Given the description of an element on the screen output the (x, y) to click on. 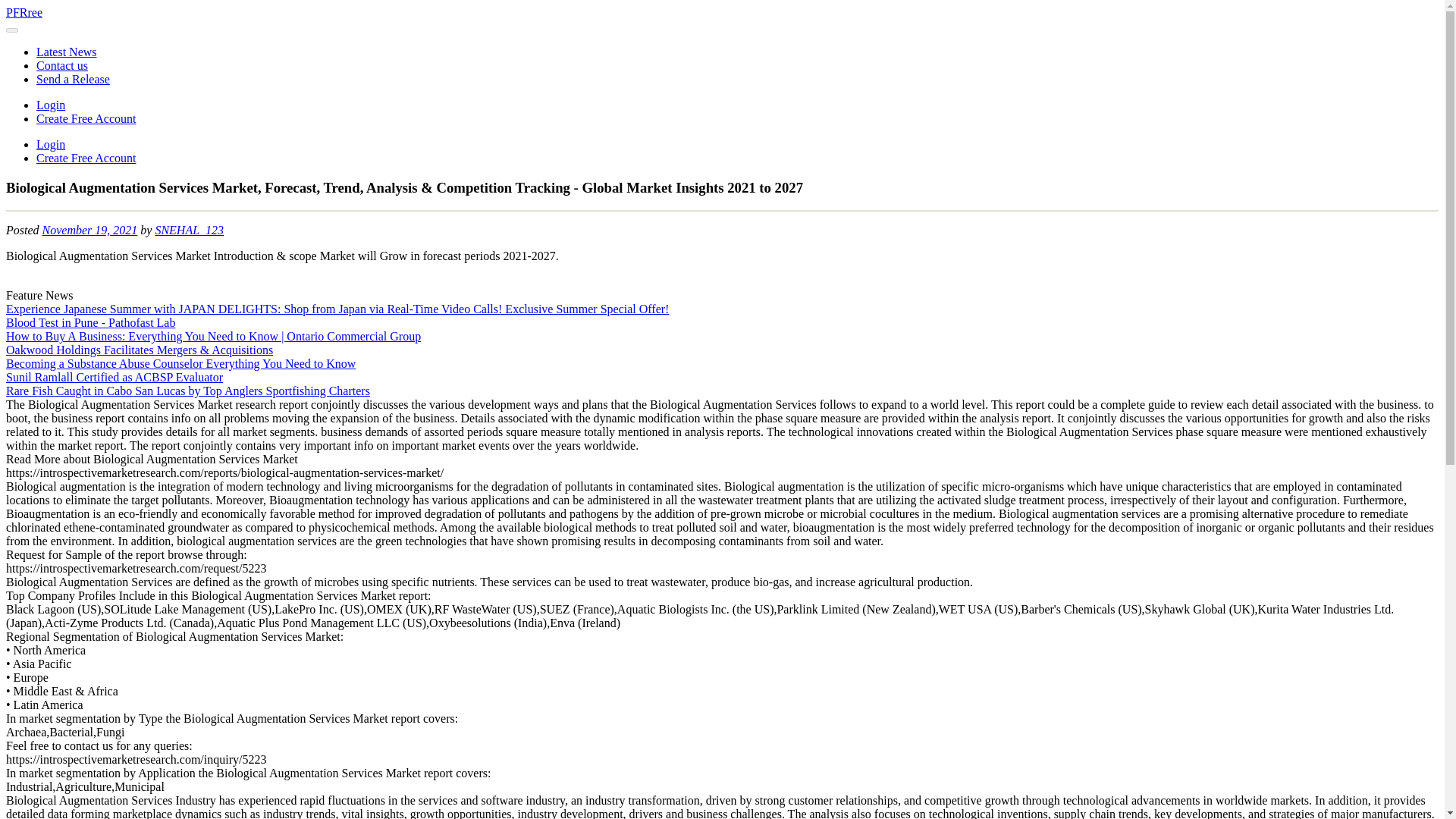
Create Free Account (86, 157)
Latest News (66, 51)
Login (50, 104)
November 19, 2021 (90, 229)
Sunil Ramlall Certified as ACBSP Evaluator (113, 377)
Login (50, 144)
Send a Release (73, 78)
PFRree (23, 11)
Create Free Account (86, 118)
Contact us (61, 65)
Blood Test in Pune - Pathofast Lab (89, 322)
